Given the description of an element on the screen output the (x, y) to click on. 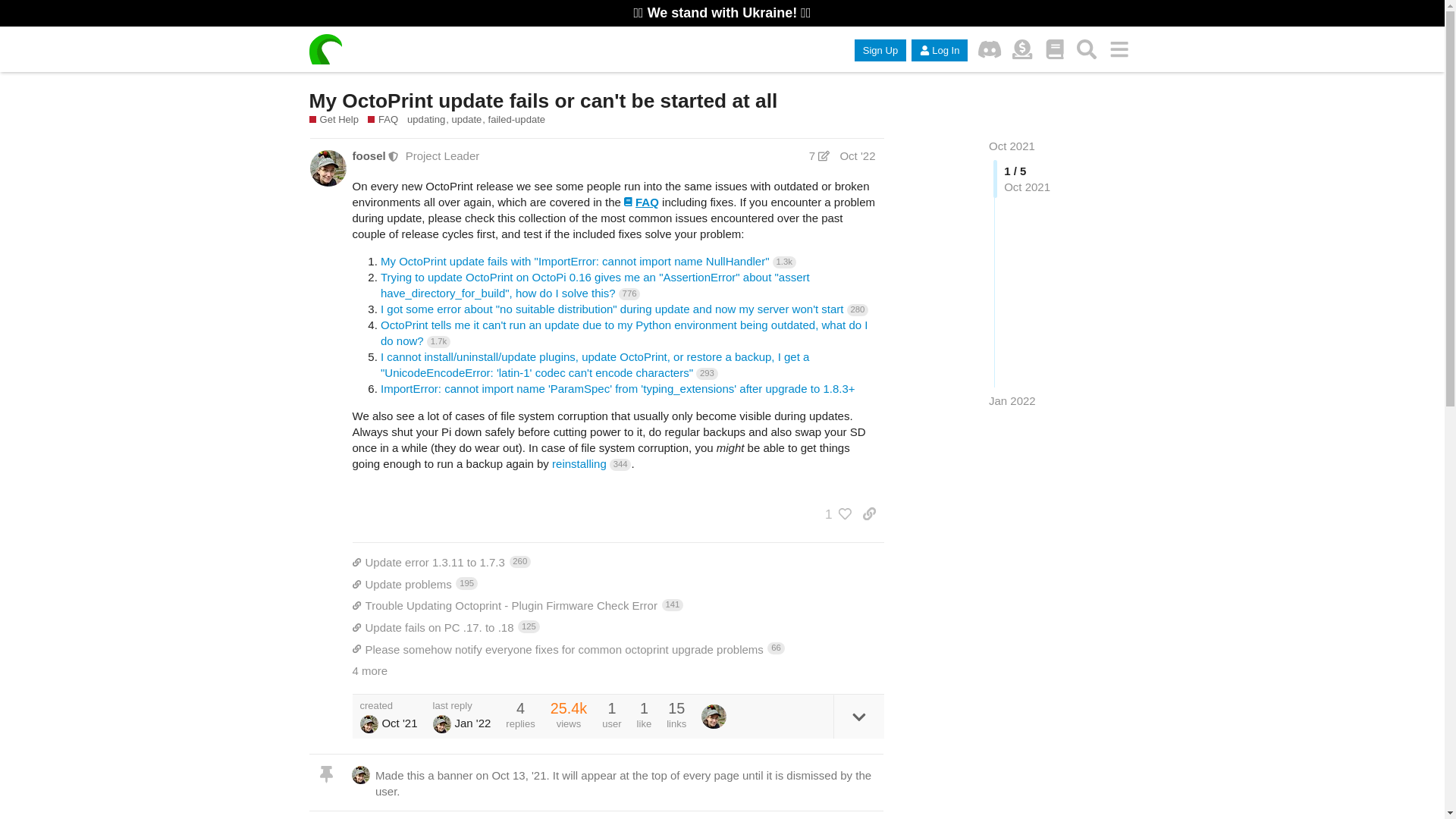
update (469, 119)
menu (1119, 49)
Support OctoPrint's development! (617, 562)
failed-update (1022, 49)
1 (515, 119)
Post date (833, 514)
